Given the description of an element on the screen output the (x, y) to click on. 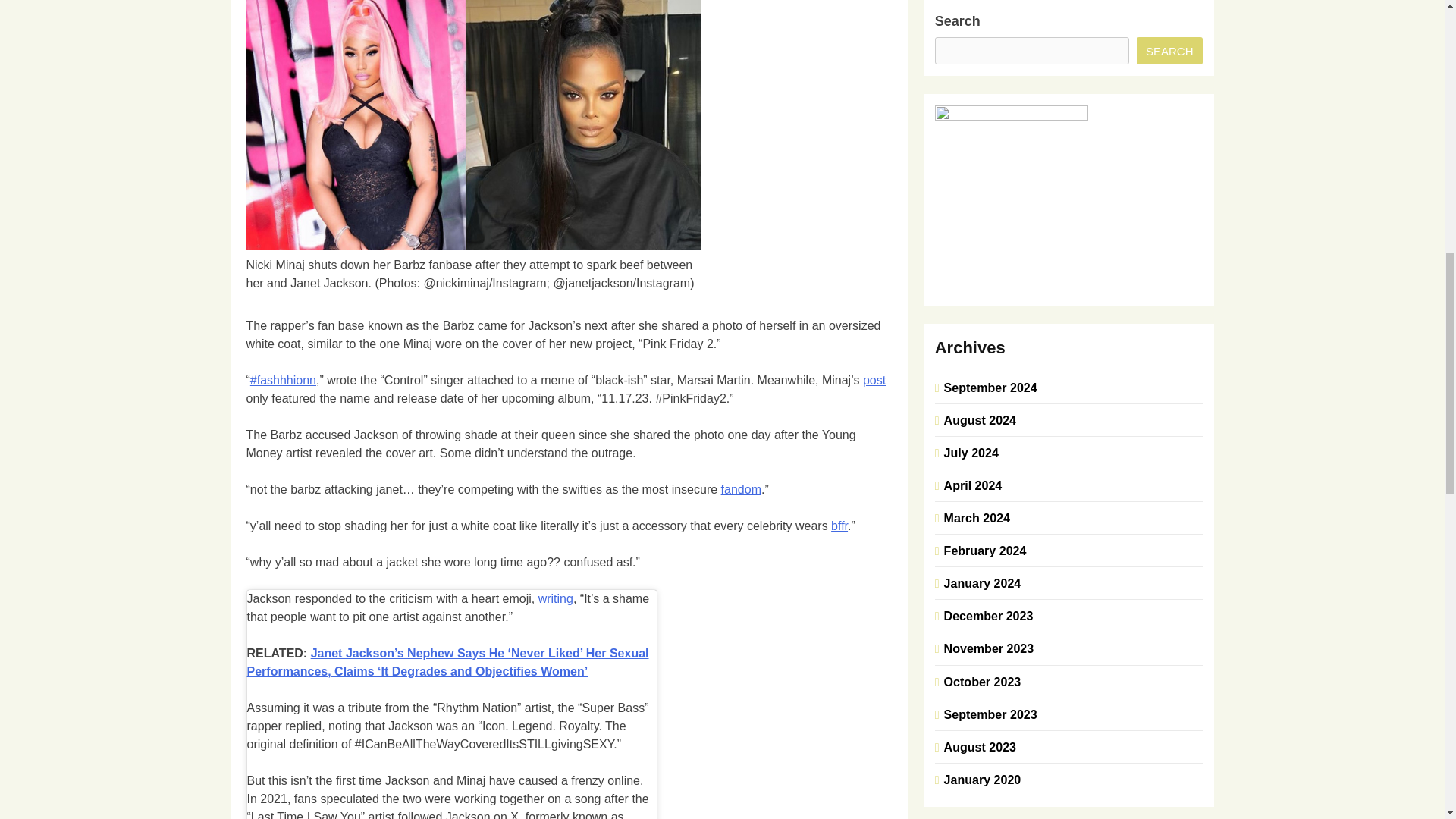
fandom (740, 489)
bffr (839, 525)
writing (555, 598)
post (874, 379)
